Given the description of an element on the screen output the (x, y) to click on. 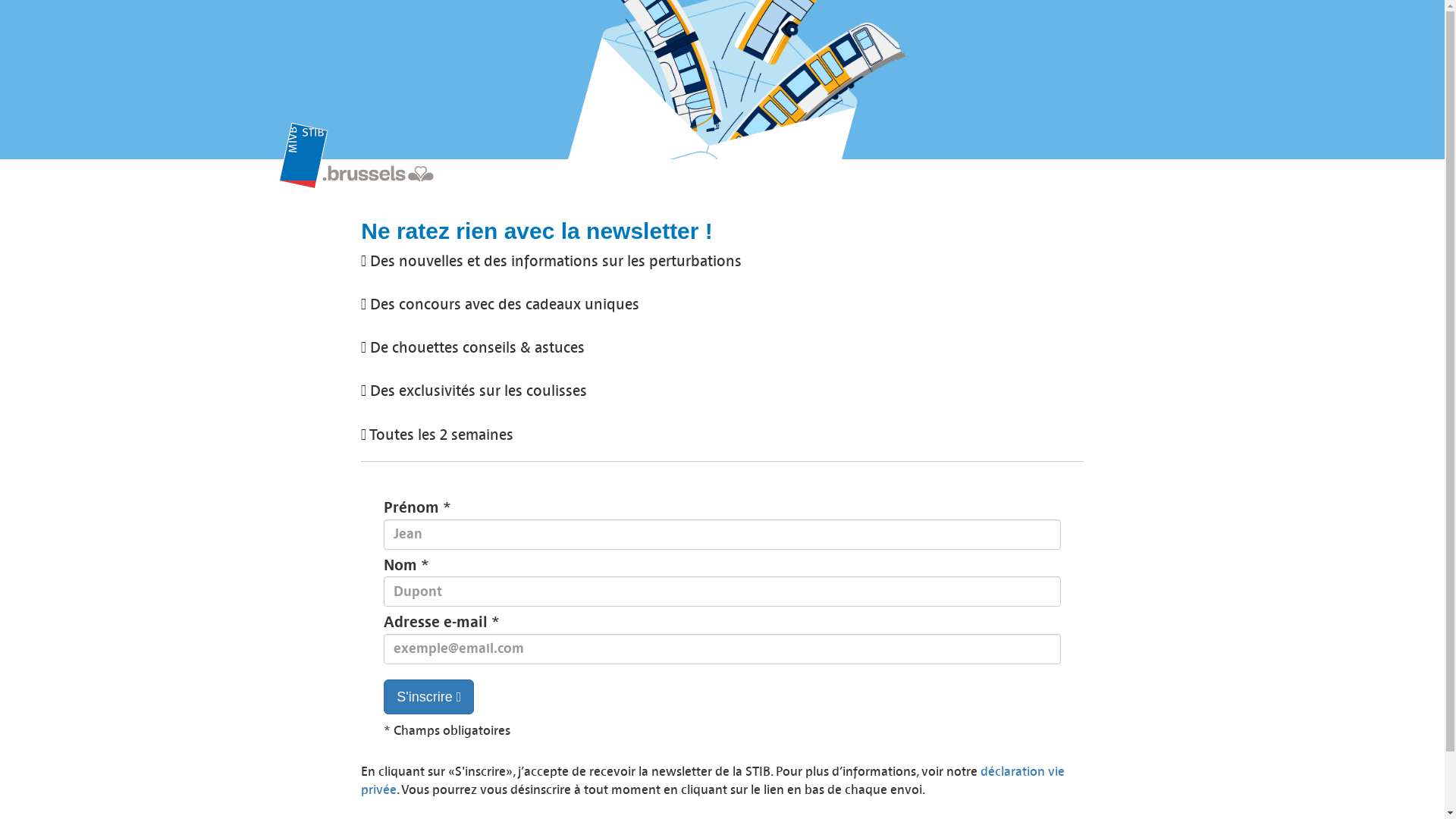
STIB/MIVB Element type: text (373, 162)
